Given the description of an element on the screen output the (x, y) to click on. 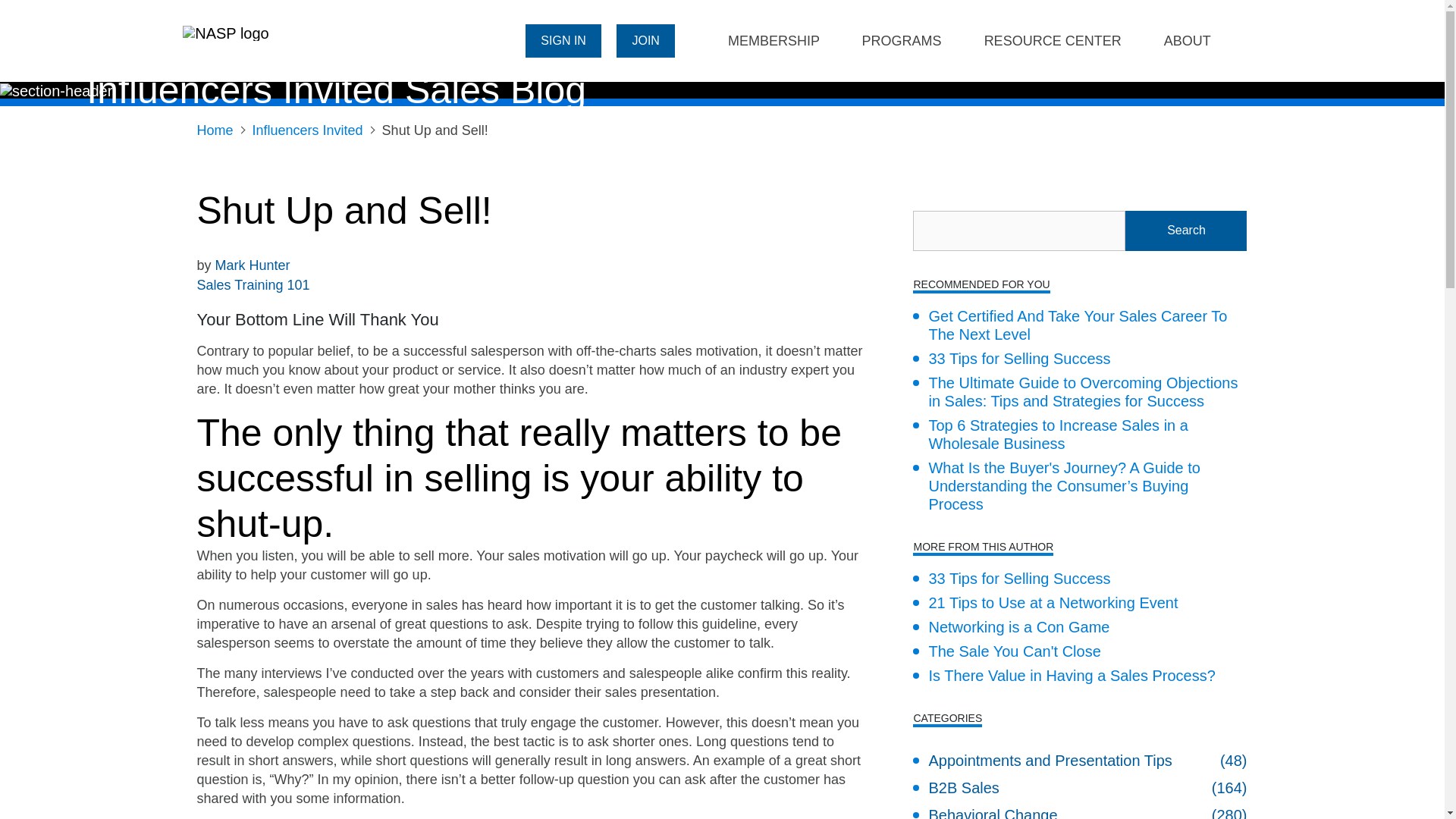
Get Certified And Take Your Sales Career To The Next Level (1079, 325)
SIGN IN (563, 40)
Top 6 Strategies to Increase Sales in a Wholesale Business (1079, 434)
Search text (1018, 230)
JOIN (645, 40)
Home (214, 130)
Mark Hunter (252, 264)
Search (1185, 230)
33 Tips for Selling Success (1010, 358)
Nasp logo (225, 31)
Influencers Invited (306, 130)
Sales Training 101 (253, 284)
